Given the description of an element on the screen output the (x, y) to click on. 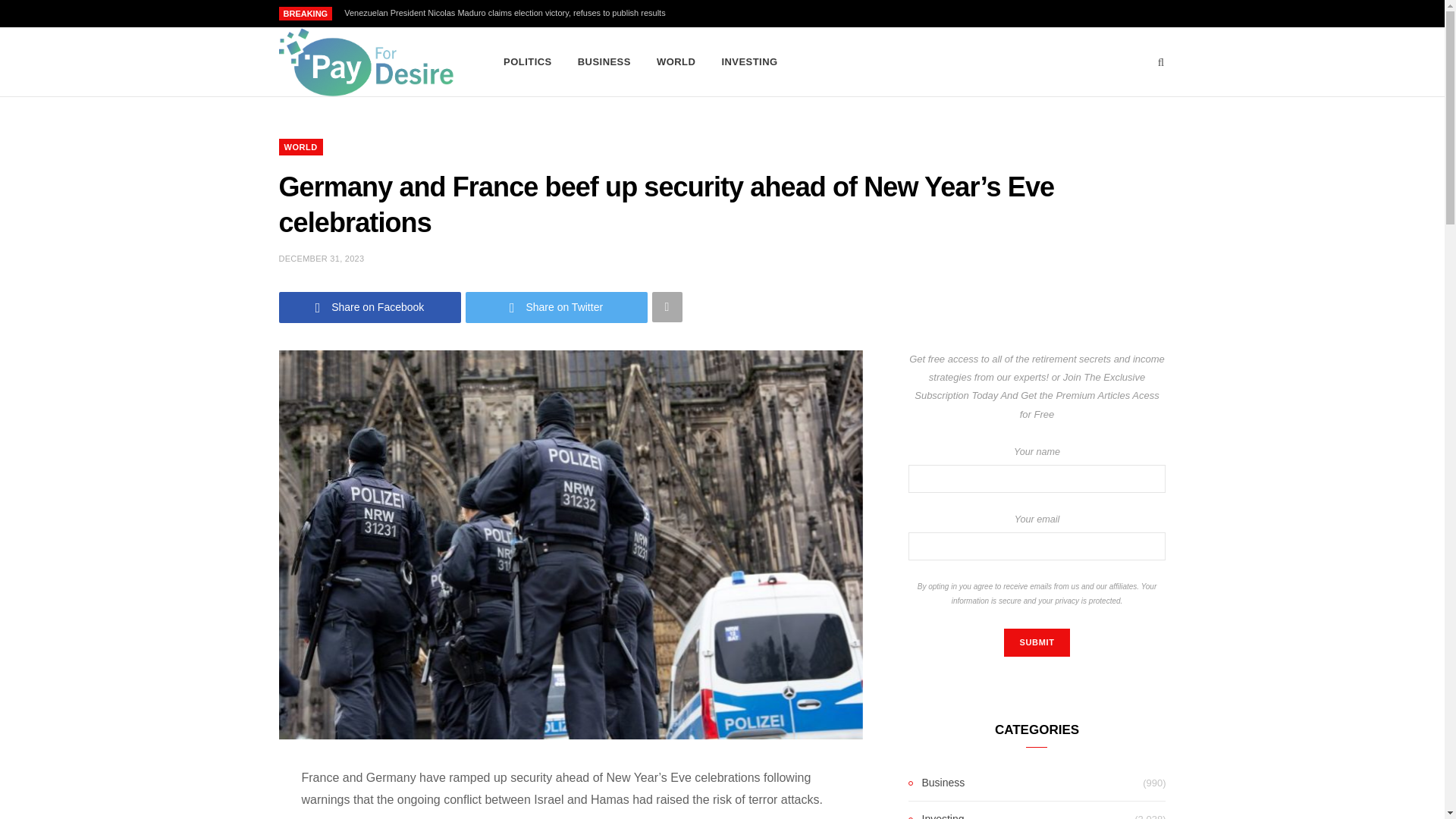
WORLD (301, 146)
Share on Facebook (370, 306)
Share on Twitter (556, 306)
DECEMBER 31, 2023 (322, 257)
WORLD (675, 61)
Submit (1036, 642)
Pay For Desire (366, 61)
Share on Twitter (556, 306)
POLITICS (527, 61)
INVESTING (749, 61)
BUSINESS (604, 61)
Share on Facebook (370, 306)
